Given the description of an element on the screen output the (x, y) to click on. 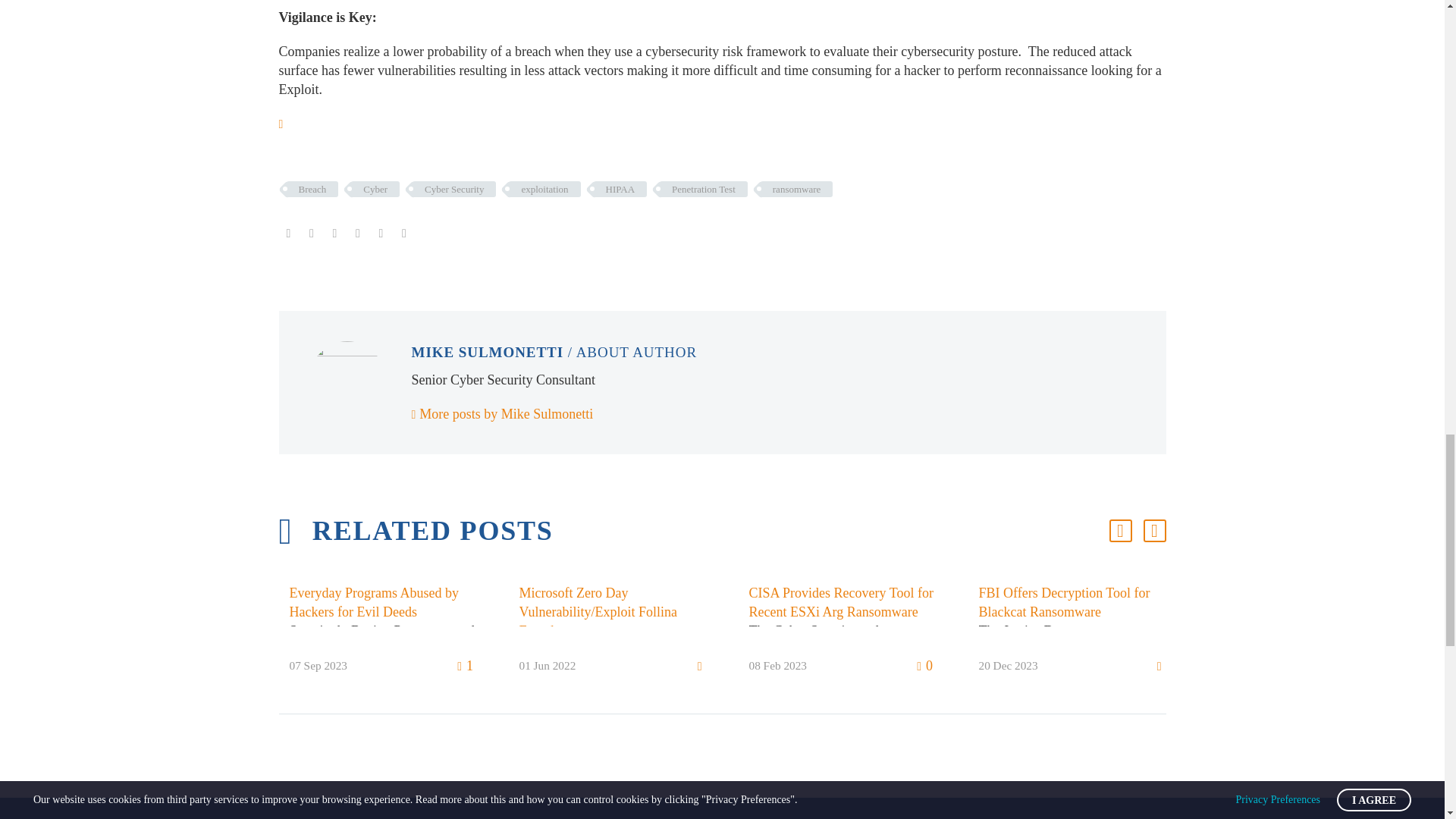
Cyber Security (454, 188)
Facebook (288, 233)
LinkedIn (380, 233)
Tumblr (358, 233)
HIPAA (620, 188)
Breach (312, 188)
Pinterest (334, 233)
Penetration Test (703, 188)
Cyber (374, 188)
ransomware (796, 188)
Like this (283, 123)
Twitter (311, 233)
Like this (466, 665)
Reddit (403, 233)
exploitation (543, 188)
